Given the description of an element on the screen output the (x, y) to click on. 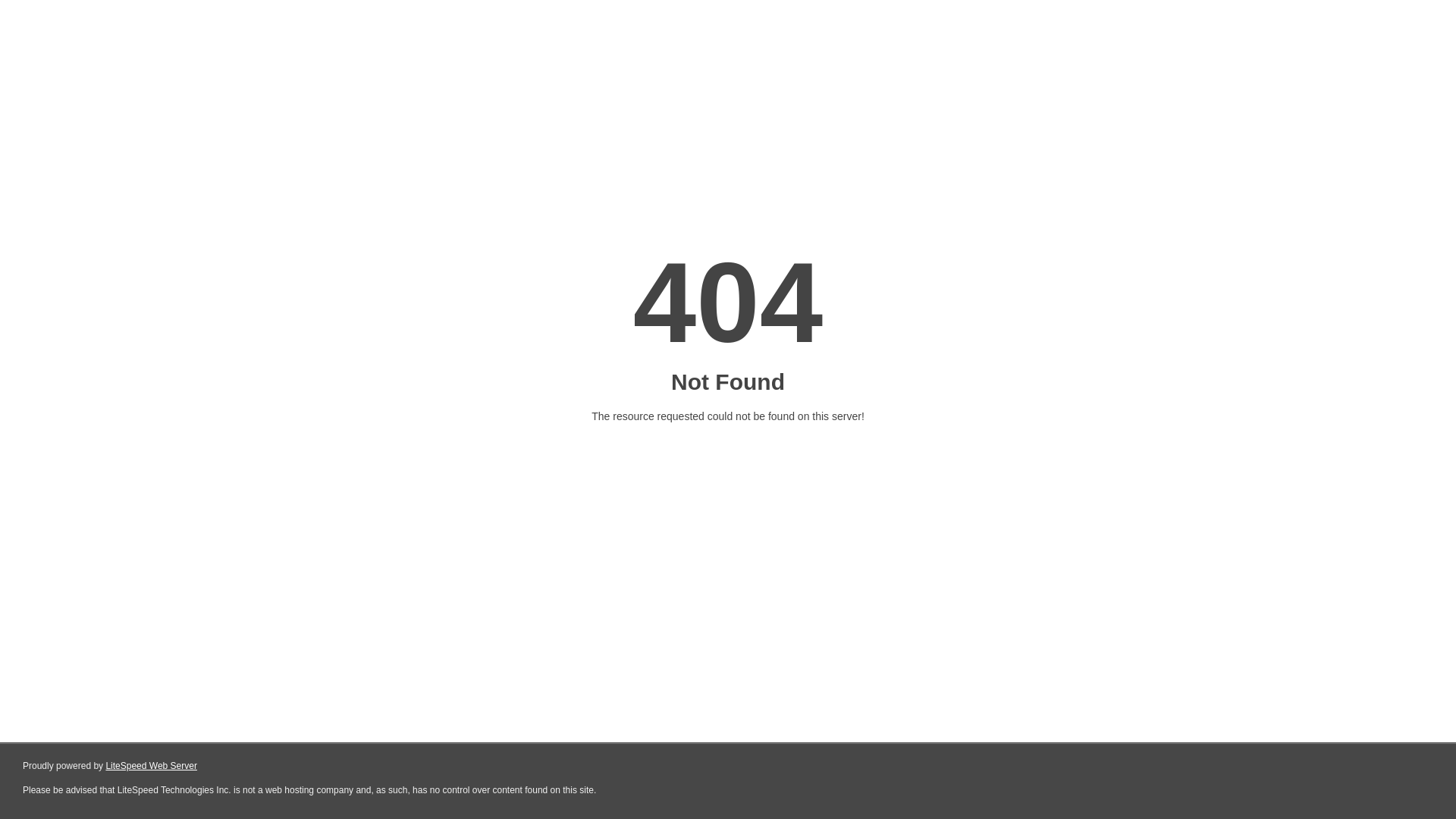
LiteSpeed Web Server Element type: text (151, 765)
